Given the description of an element on the screen output the (x, y) to click on. 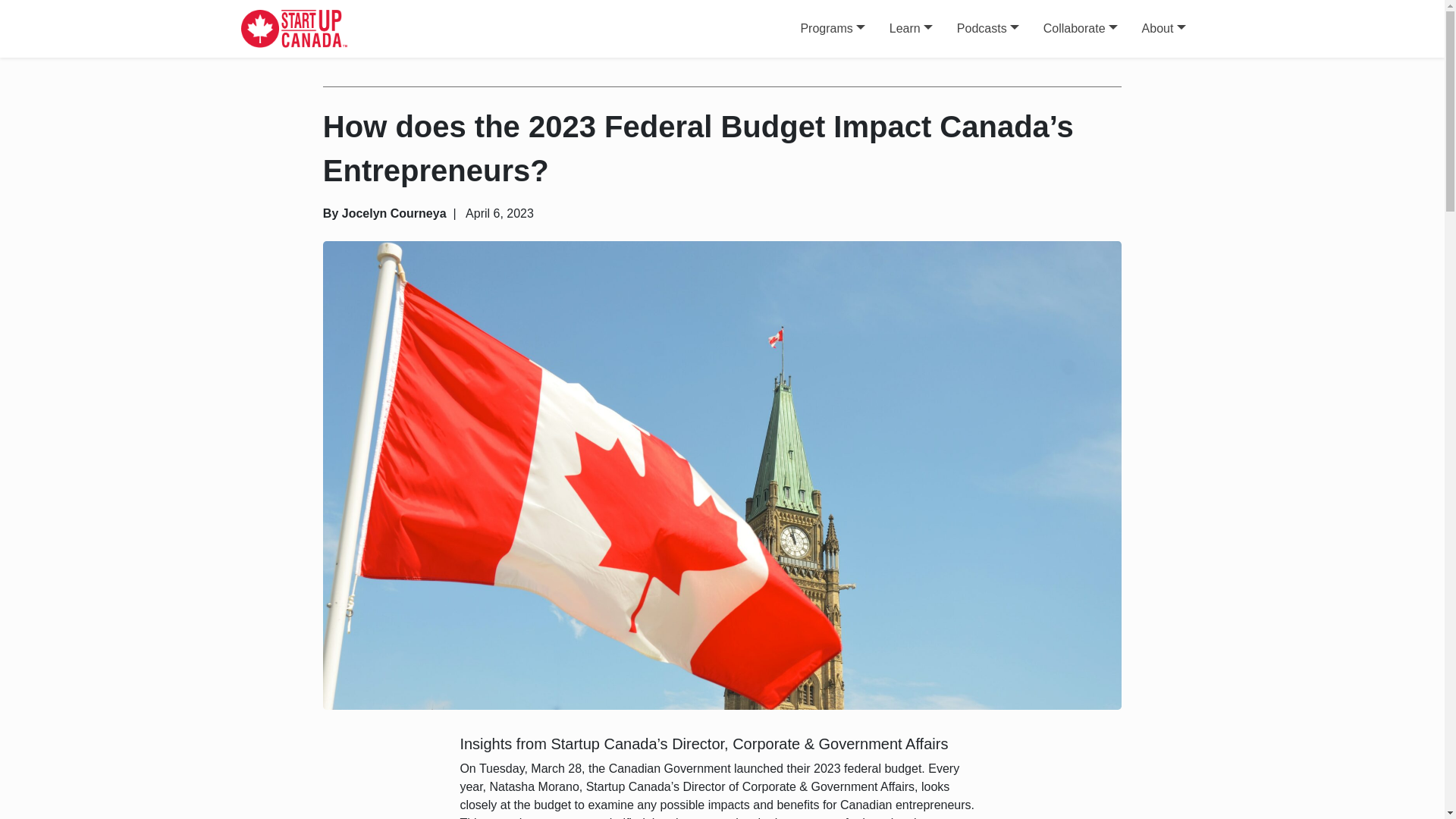
Learn (911, 28)
Programs (831, 28)
Collaborate (1080, 28)
Learn (911, 28)
Collaborate (1080, 28)
Podcasts (987, 28)
About (1163, 28)
Podcasts (987, 28)
Programs (831, 28)
